Given the description of an element on the screen output the (x, y) to click on. 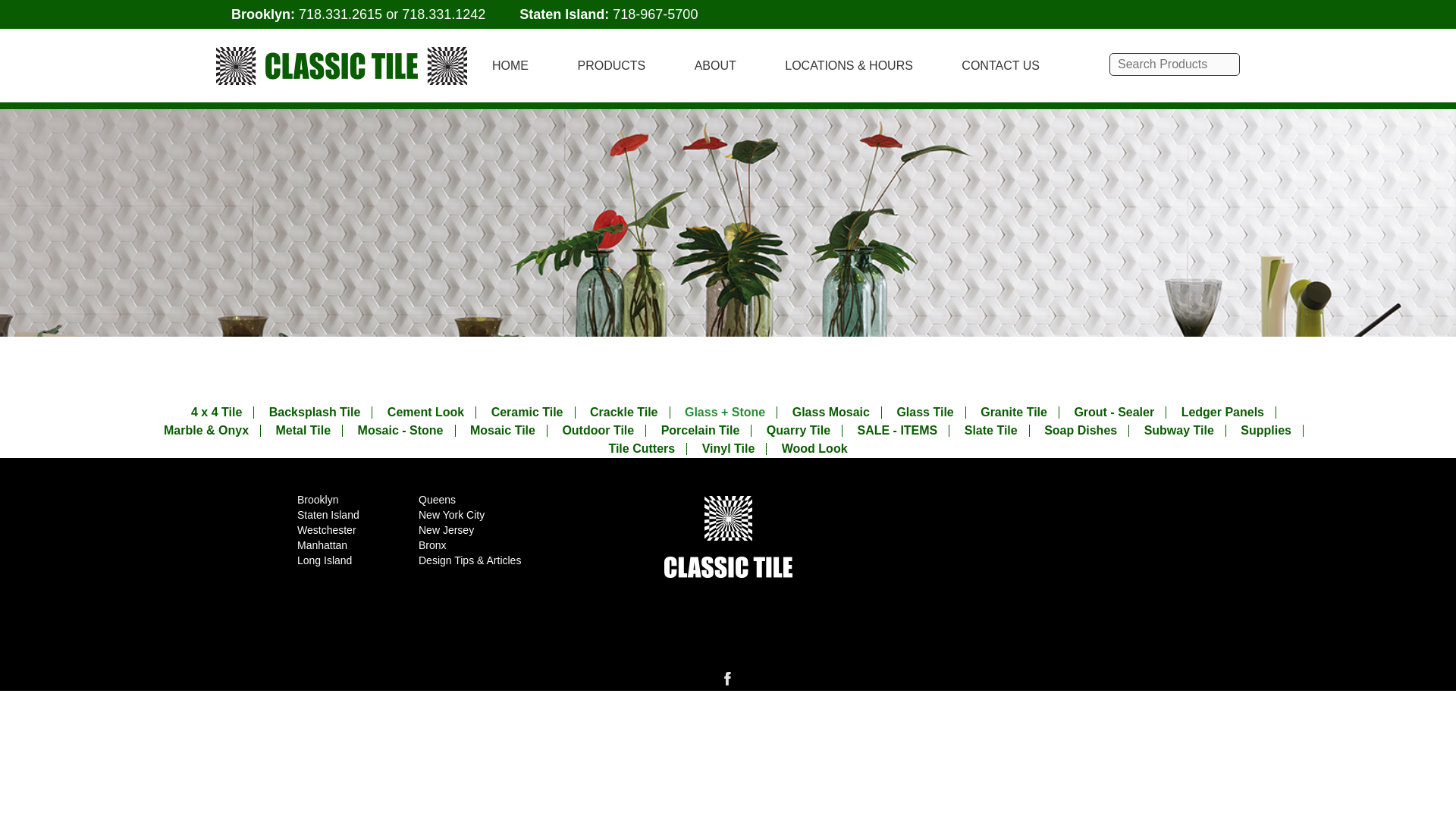
Vinyl Tile (728, 449)
Grout - Sealer (1114, 412)
SALE - ITEMS (897, 430)
Ledger Panels (1222, 412)
Cement Look   (425, 412)
Supplies (1265, 430)
Soap Dishes (1080, 430)
Glass Mosaic (830, 412)
718-967-5700 (654, 14)
718.331.1242 (442, 14)
Backsplash Tile (314, 412)
Granite Tile (1013, 412)
Mosaic - Stone (400, 430)
Slate Tile (991, 430)
Wood Look (814, 449)
